Given the description of an element on the screen output the (x, y) to click on. 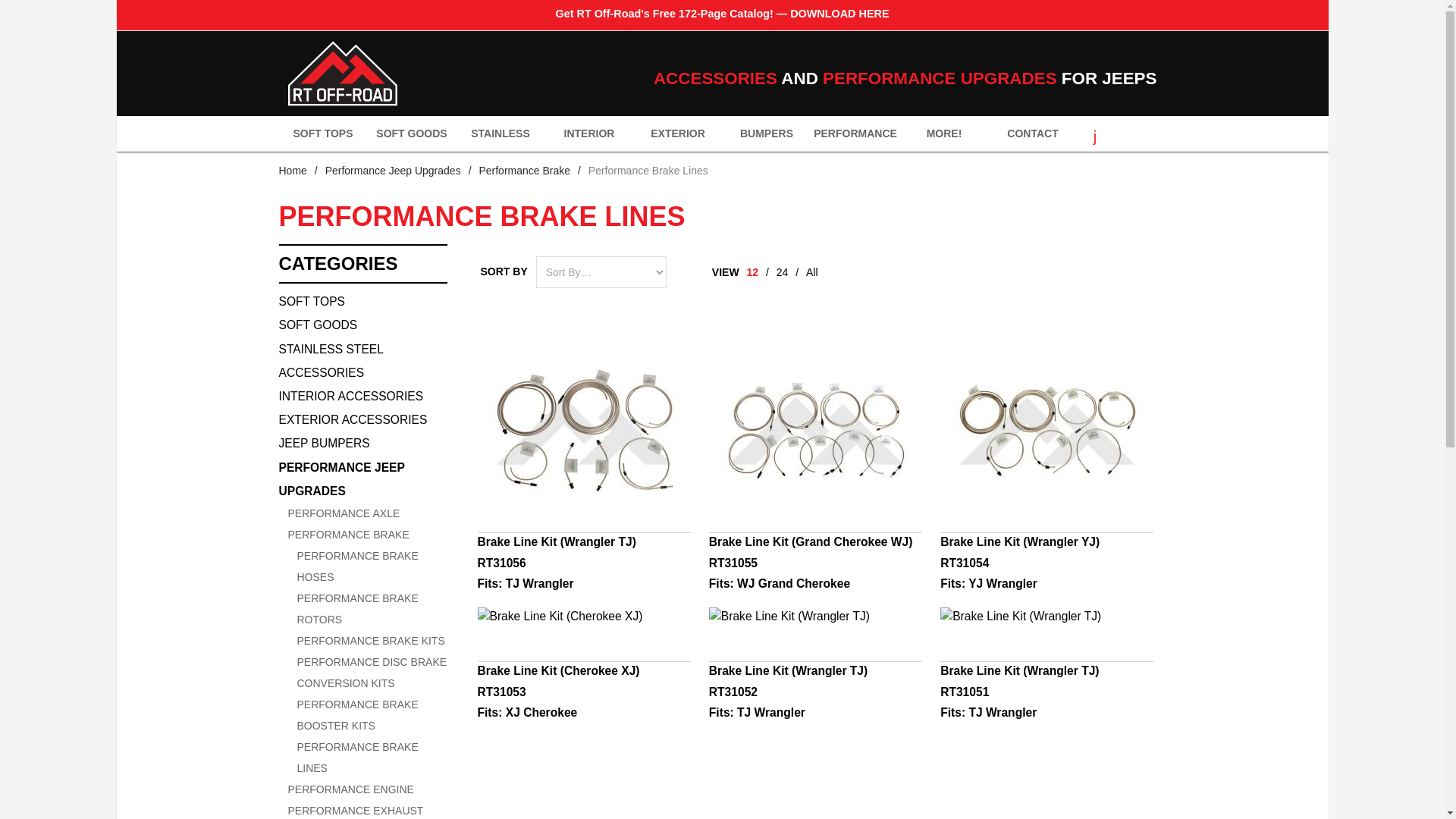
Performance Jeep Upgrades (392, 170)
Home (293, 170)
Soft Tops (362, 300)
Jeep Accessories and Performance Upgrades (342, 73)
SOFT GOODS (410, 133)
SOFT TOPS (323, 133)
Performance Brake (524, 170)
RT Off-Road (427, 73)
